Given the description of an element on the screen output the (x, y) to click on. 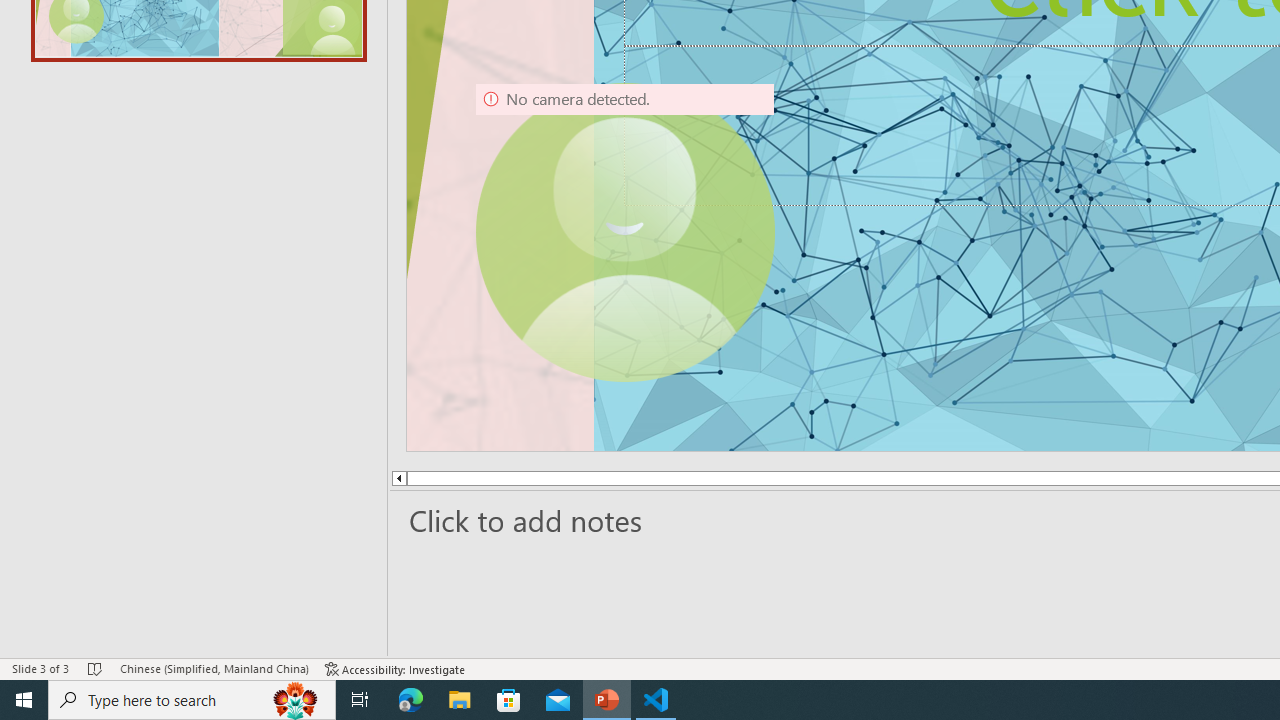
Camera 9, No camera detected. (624, 232)
